Given the description of an element on the screen output the (x, y) to click on. 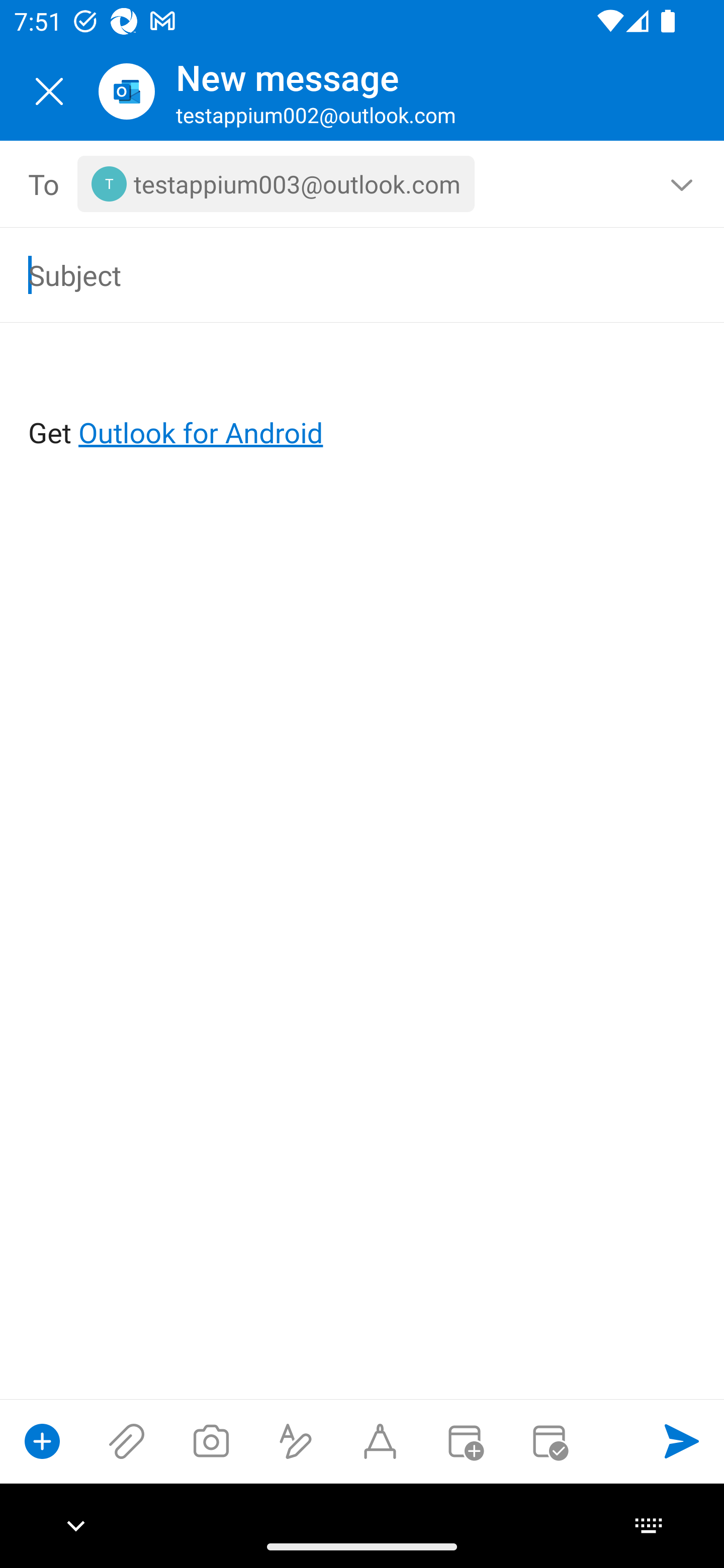
Close (49, 91)
To, 1 recipient <testappium003@outlook.com> (362, 184)
Subject (333, 274)


Get Outlook for Android (363, 400)
Show compose options (42, 1440)
Attach files (126, 1440)
Take a photo (210, 1440)
Show formatting options (295, 1440)
Start Ink compose (380, 1440)
Convert to event (464, 1440)
Send availability (548, 1440)
Send (681, 1440)
